Given the description of an element on the screen output the (x, y) to click on. 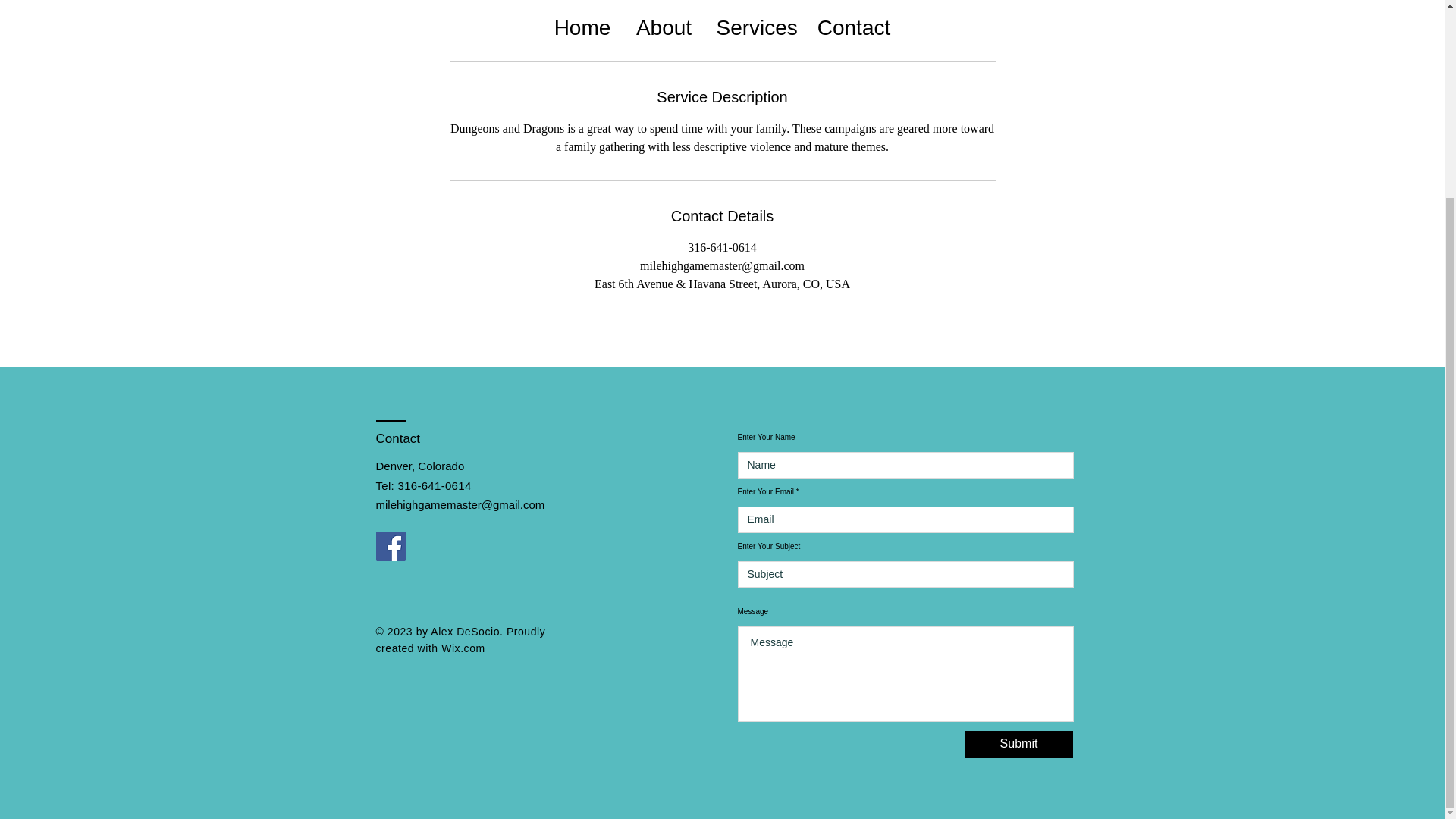
Wix.com (462, 648)
Submit (1017, 744)
Request to book (721, 21)
